Given the description of an element on the screen output the (x, y) to click on. 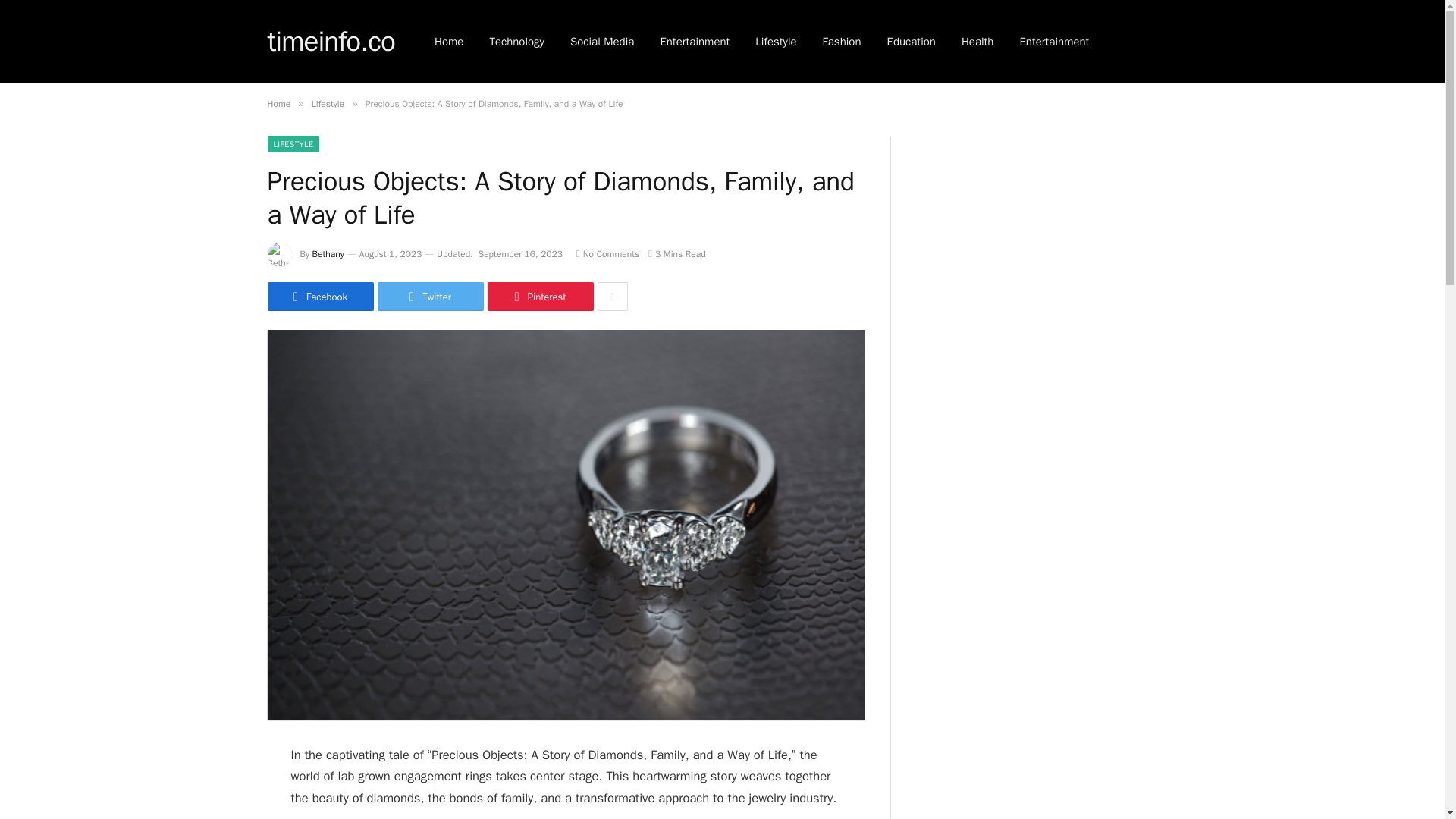
Entertainment (694, 41)
Home (449, 41)
Lifestyle (775, 41)
Posts by Bethany (328, 254)
Home (277, 103)
Health (978, 41)
LIFESTYLE (292, 143)
Technology (516, 41)
No Comments (607, 254)
Entertainment (1054, 41)
Show More Social Sharing (611, 296)
Share on Facebook (319, 296)
Facebook (319, 296)
Social Media (601, 41)
